Given the description of an element on the screen output the (x, y) to click on. 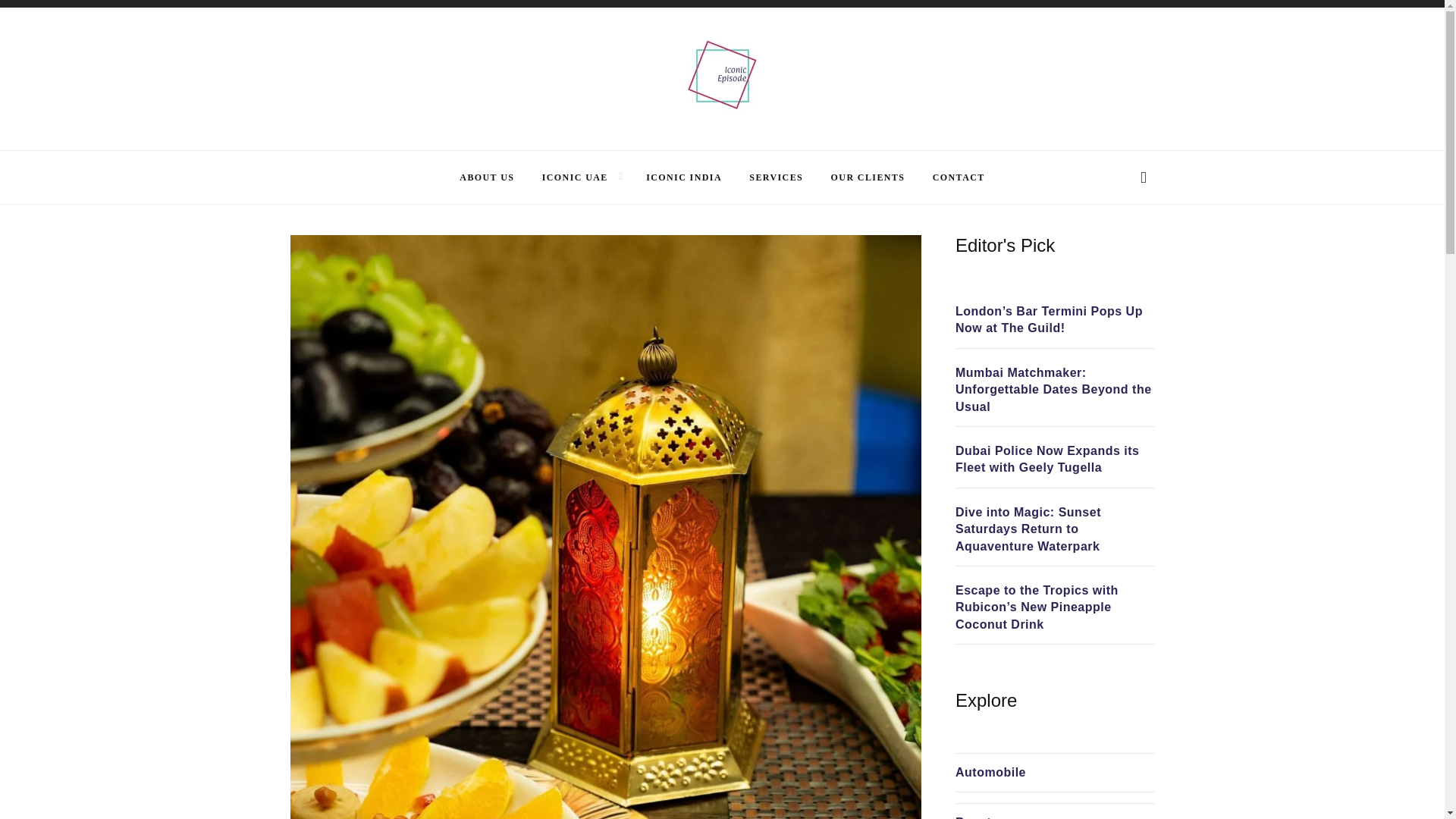
ABOUT US (486, 176)
CONTACT (959, 176)
SERVICES (776, 176)
ICONIC UAE (574, 176)
Mumbai Matchmaker: Unforgettable Dates Beyond the Usual (1054, 389)
Dubai Police Now Expands its Fleet with Geely Tugella (1054, 459)
OUR CLIENTS (868, 176)
ICONIC INDIA (684, 176)
Automobile (990, 771)
